Given the description of an element on the screen output the (x, y) to click on. 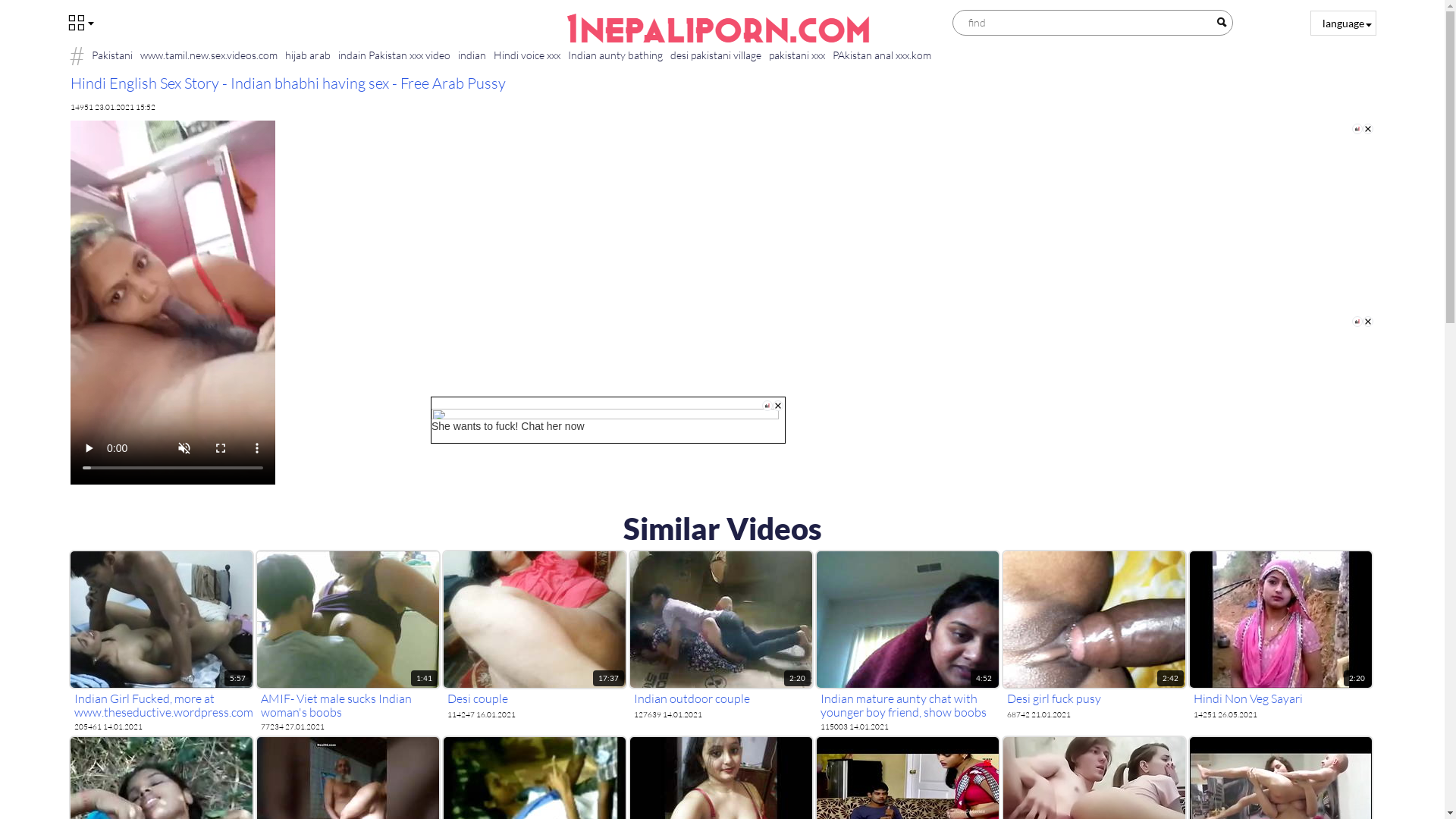
2:20
Indian outdoor couple
127639 14.01.2021 Element type: text (720, 635)
Indian aunty bathing Element type: text (615, 54)
Pakistani Element type: text (111, 54)
indain Pakistan xxx video Element type: text (393, 54)
2:42
Desi girl fuck pusy
68742 21.01.2021 Element type: text (1093, 635)
2:20
Hindi Non Veg Sayari
14251 26.05.2021 Element type: text (1280, 635)
indian Element type: text (471, 54)
hijab arab Element type: text (306, 54)
desi pakistani village Element type: text (714, 54)
pakistani xxx Element type: text (796, 54)
Hindi voice xxx Element type: text (526, 54)
PAkistan anal xxx.kom Element type: text (881, 54)
17:37
Desi couple
114247 16.01.2021 Element type: text (533, 635)
www.tamil.new.sex.videos.com Element type: text (208, 54)
